Given the description of an element on the screen output the (x, y) to click on. 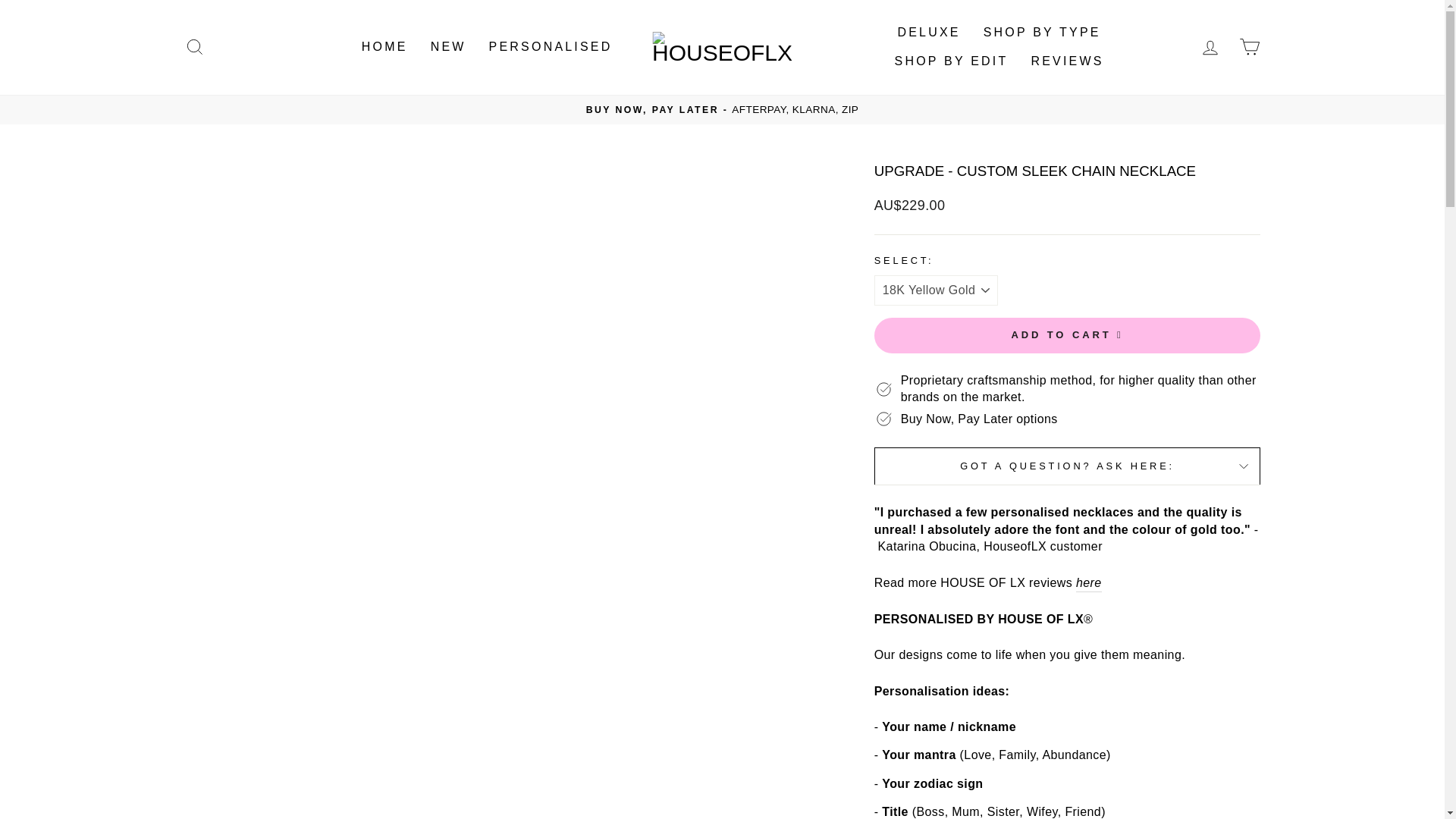
DELUXE (928, 32)
PERSONALISED (550, 47)
HOME (384, 47)
SHOP BY TYPE (1042, 32)
SEARCH (194, 47)
NEW (448, 47)
